Given the description of an element on the screen output the (x, y) to click on. 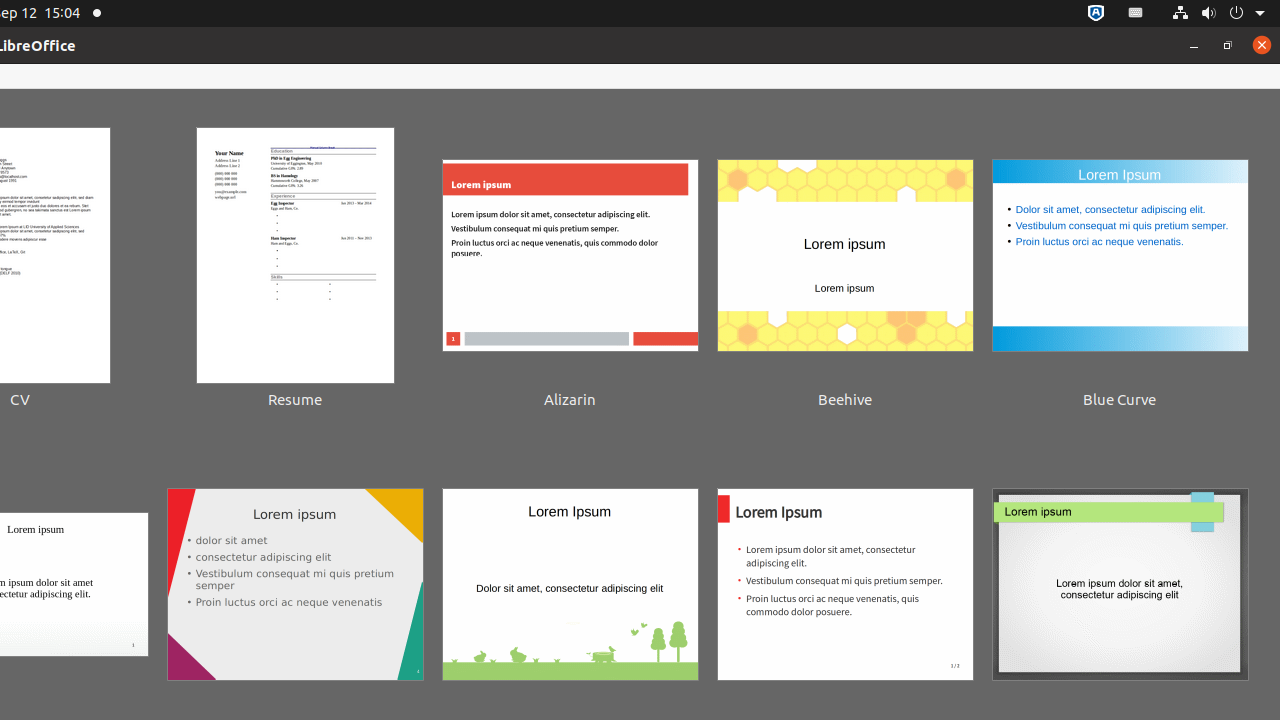
Alizarin Element type: list-item (570, 270)
Blue Curve Element type: list-item (1120, 270)
Resume Element type: list-item (295, 270)
